Given the description of an element on the screen output the (x, y) to click on. 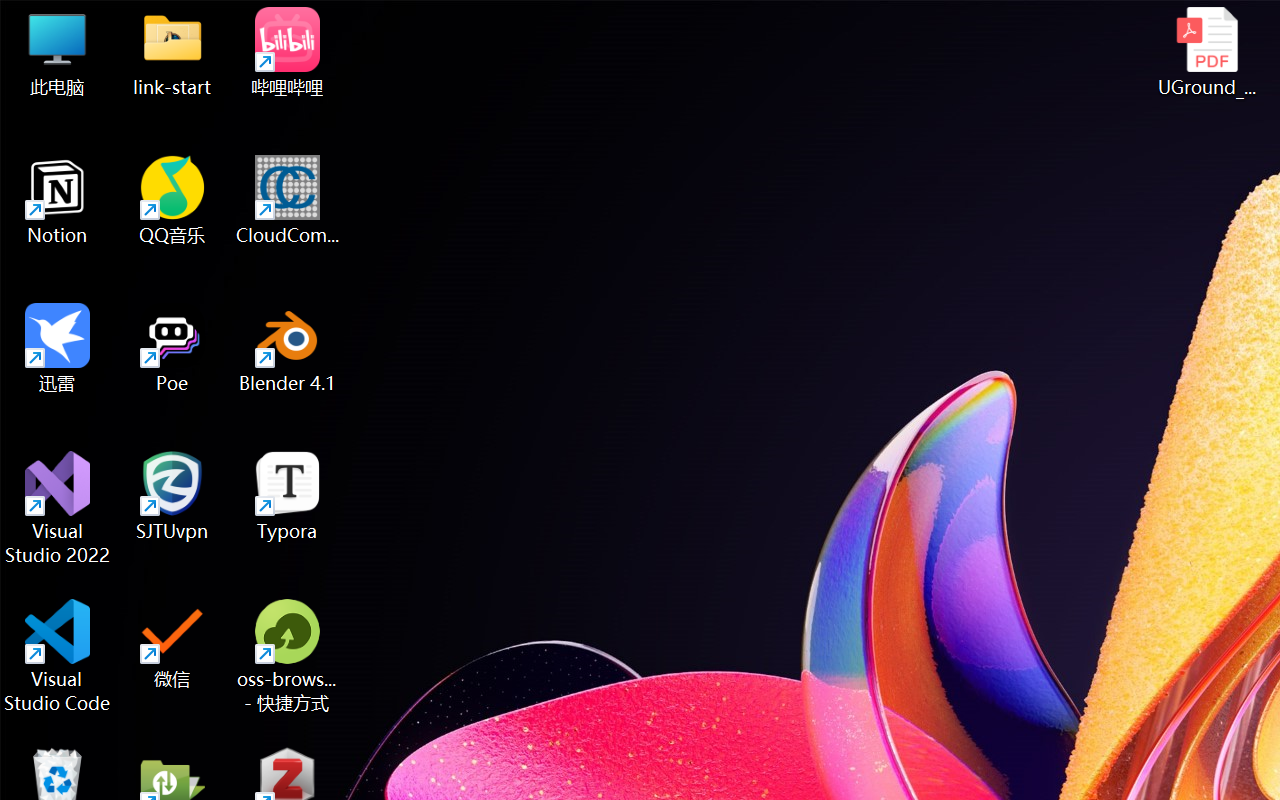
Blender 4.1 (287, 348)
Visual Studio 2022 (57, 508)
Visual Studio Code (57, 656)
Typora (287, 496)
UGround_paper.pdf (1206, 52)
CloudCompare (287, 200)
